Given the description of an element on the screen output the (x, y) to click on. 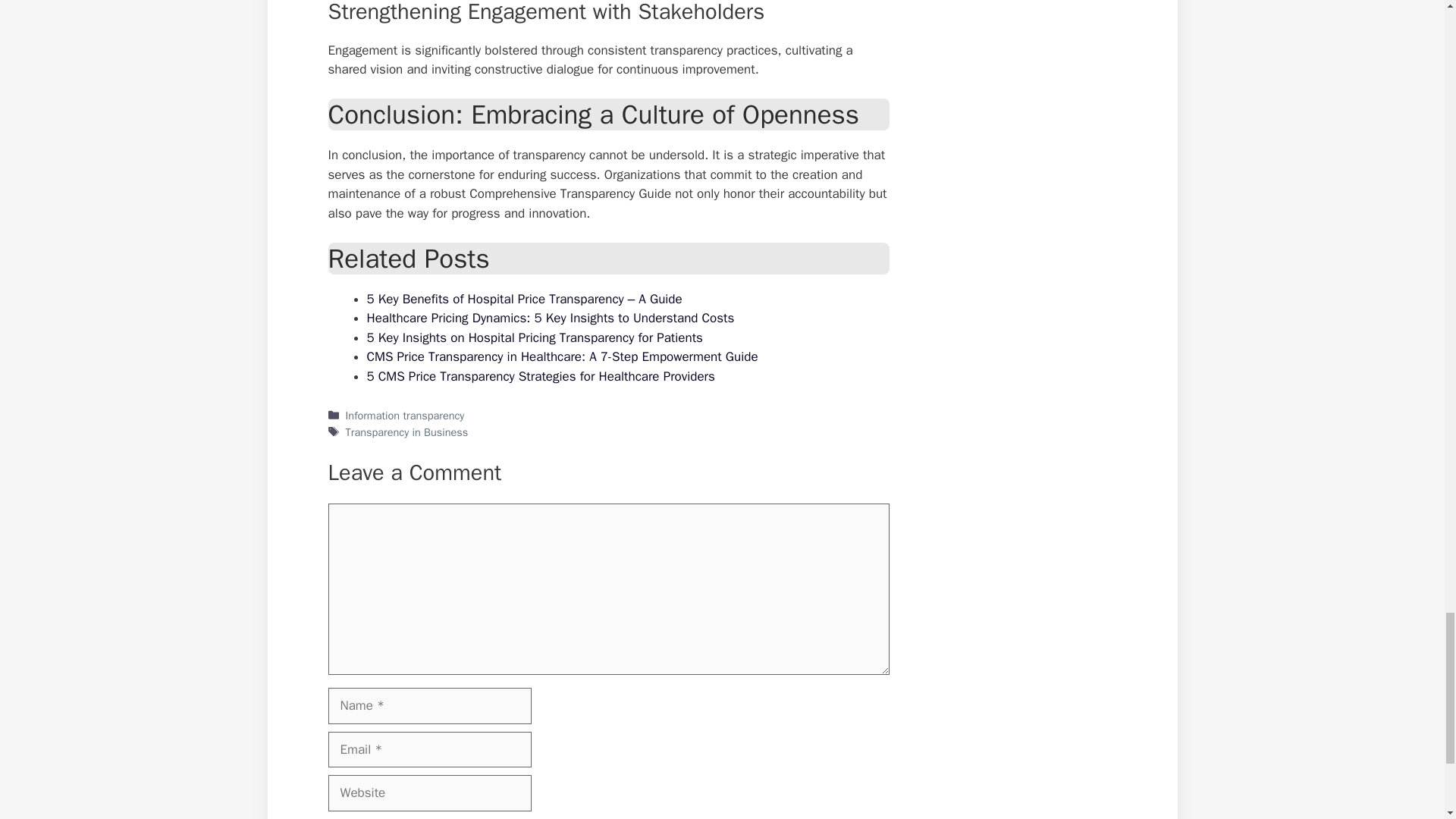
5 CMS Price Transparency Strategies for Healthcare Providers (540, 376)
Information transparency (405, 415)
5 Key Insights on Hospital Pricing Transparency for Patients (534, 337)
Transparency in Business (407, 431)
